Given the description of an element on the screen output the (x, y) to click on. 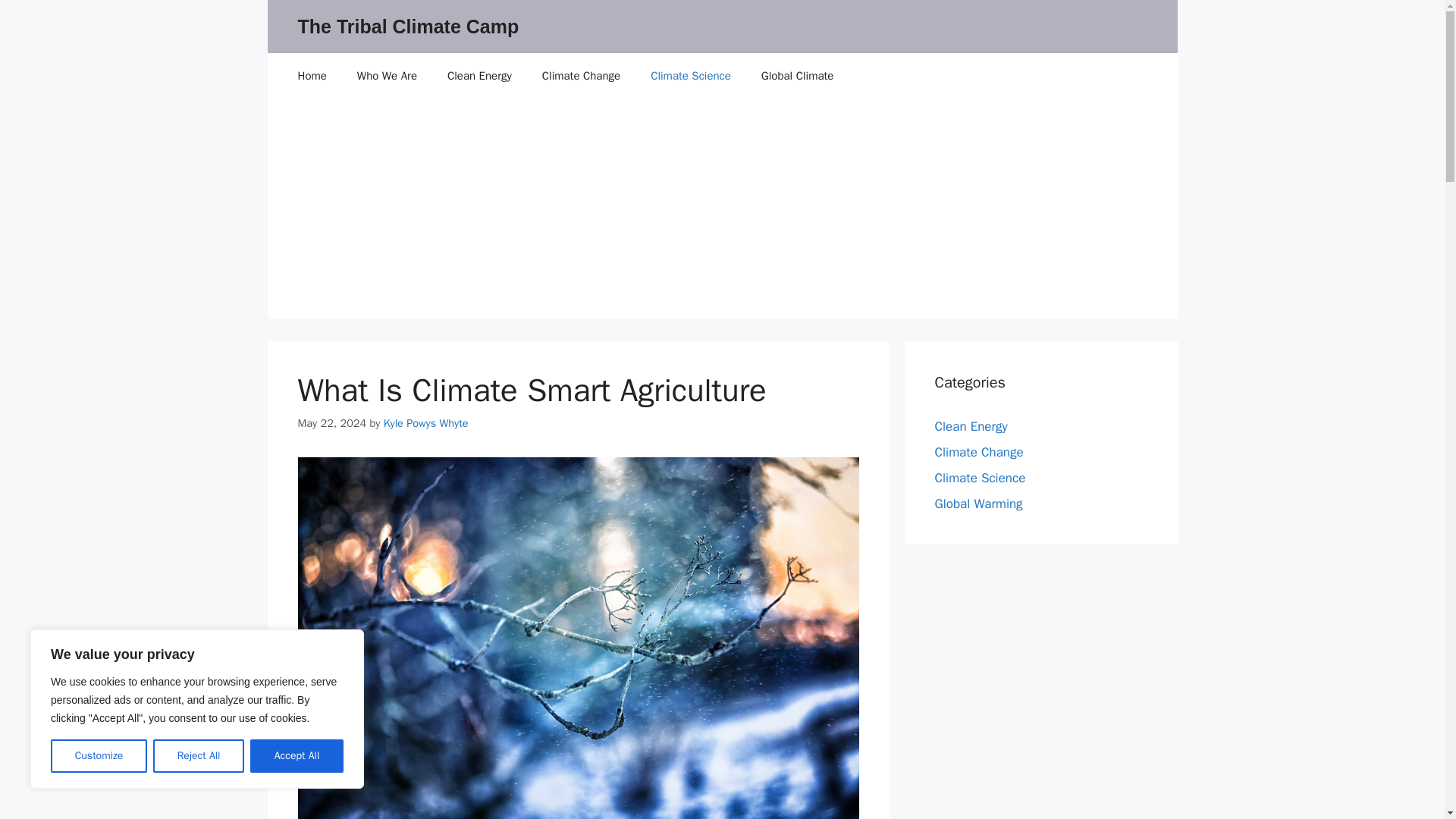
Clean Energy (479, 75)
Global Climate (796, 75)
Accept All (296, 756)
Who We Are (387, 75)
Kyle Powys Whyte (426, 422)
Reject All (198, 756)
Climate Change (580, 75)
The Tribal Climate Camp (407, 25)
View all posts by Kyle Powys Whyte (426, 422)
Climate Science (689, 75)
Home (311, 75)
Customize (98, 756)
